Given the description of an element on the screen output the (x, y) to click on. 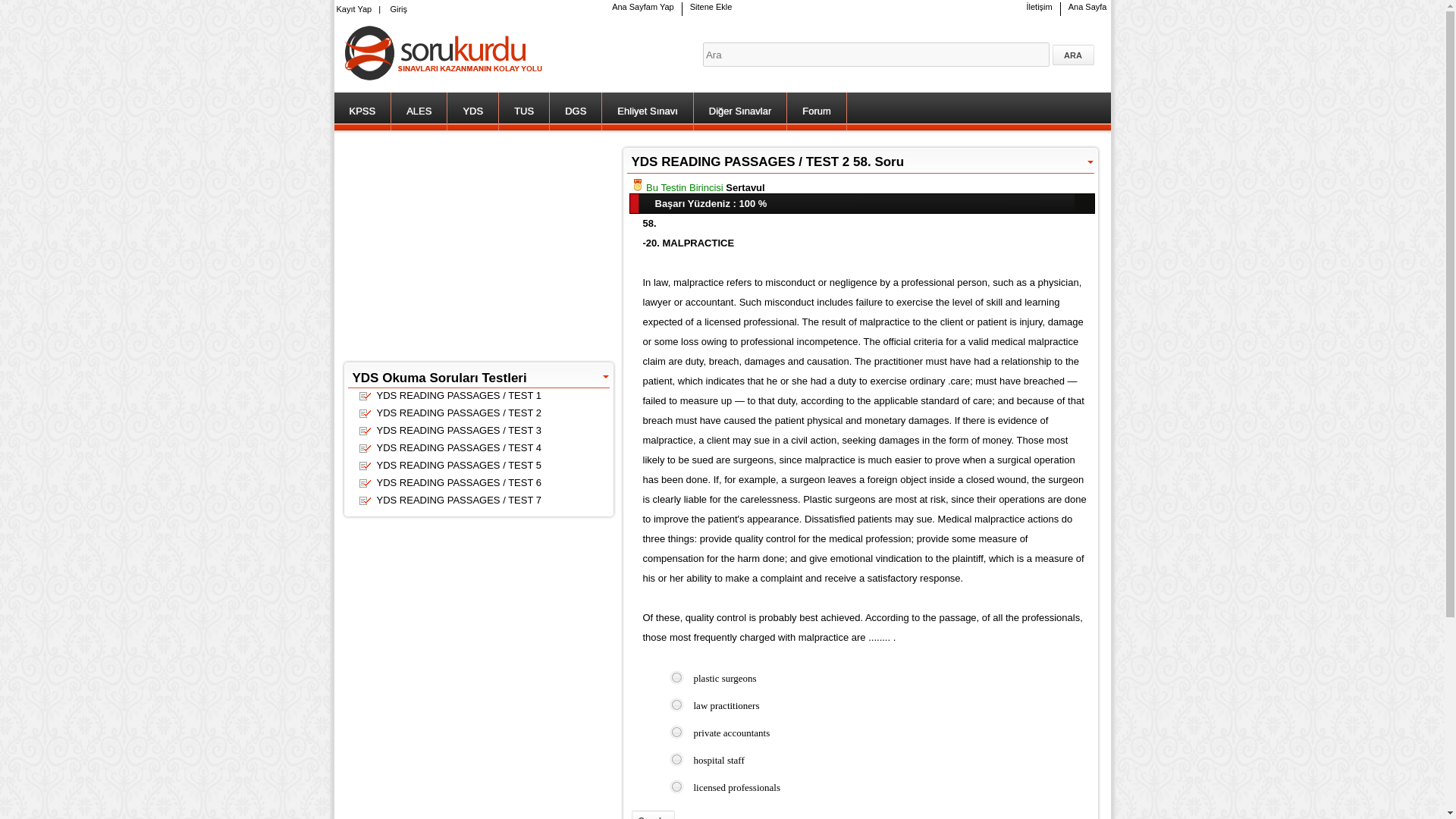
Ana Sayfa (1087, 6)
Ana Sayfam Yap (642, 6)
 ARA  (1073, 55)
Sitene Ekel (711, 6)
Sitene Ekle (711, 6)
E (671, 783)
B (671, 701)
 ARA  (1073, 55)
Soru Kurdu Ana Sayfa (642, 6)
C (671, 728)
A (671, 674)
Ana Sayfa (1087, 6)
Soru Kurdu Ana Sayfa (443, 85)
Onayla  (652, 814)
D (671, 756)
